Given the description of an element on the screen output the (x, y) to click on. 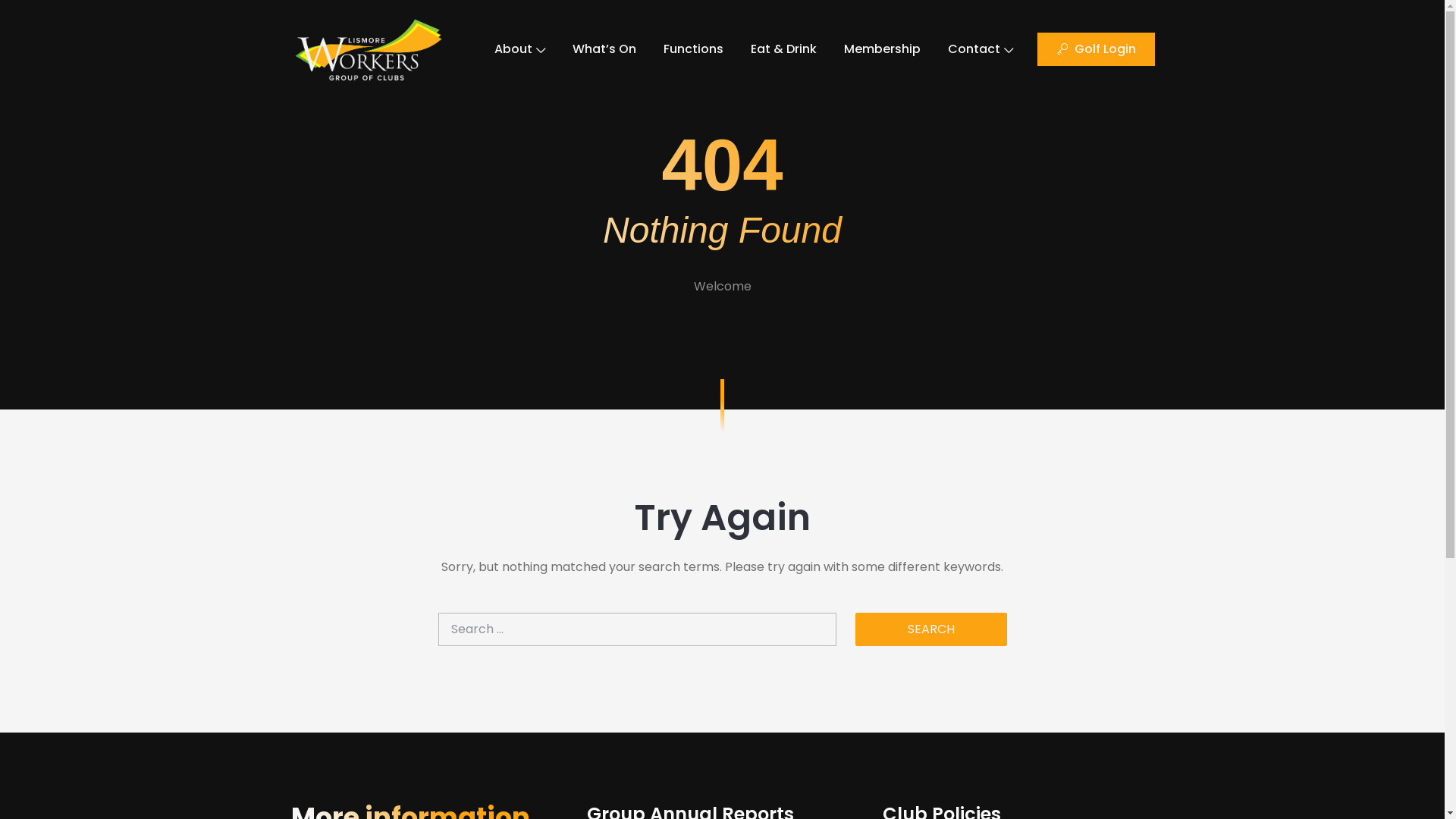
Golf Login Element type: text (1095, 48)
About Element type: text (519, 49)
Eat & Drink Element type: text (783, 49)
Membership Element type: text (881, 49)
Welcome Element type: text (721, 285)
Contact Element type: text (980, 49)
Functions Element type: text (693, 49)
Search Element type: text (931, 629)
